Given the description of an element on the screen output the (x, y) to click on. 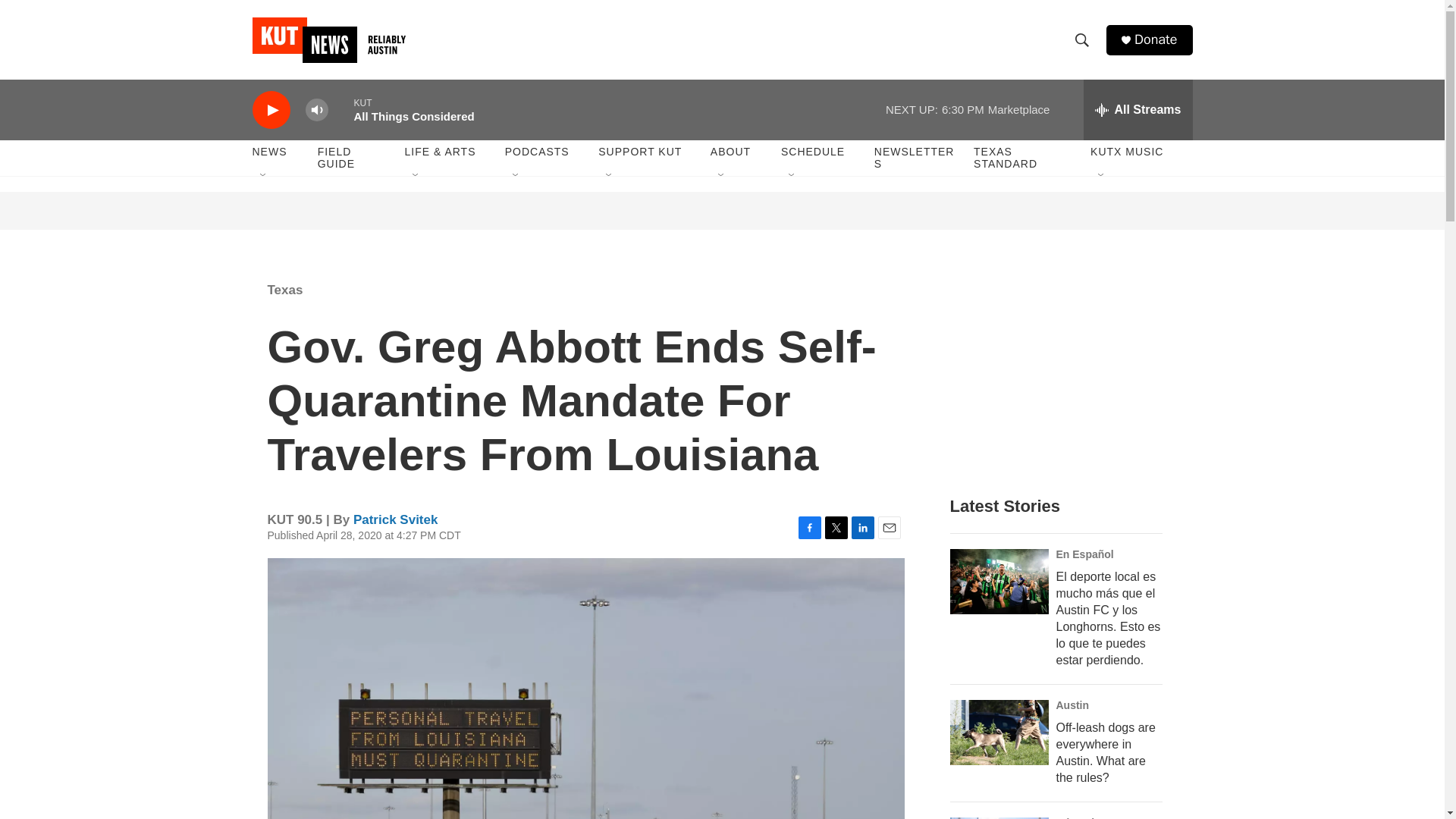
3rd party ad content (722, 210)
3rd party ad content (1062, 370)
